Given the description of an element on the screen output the (x, y) to click on. 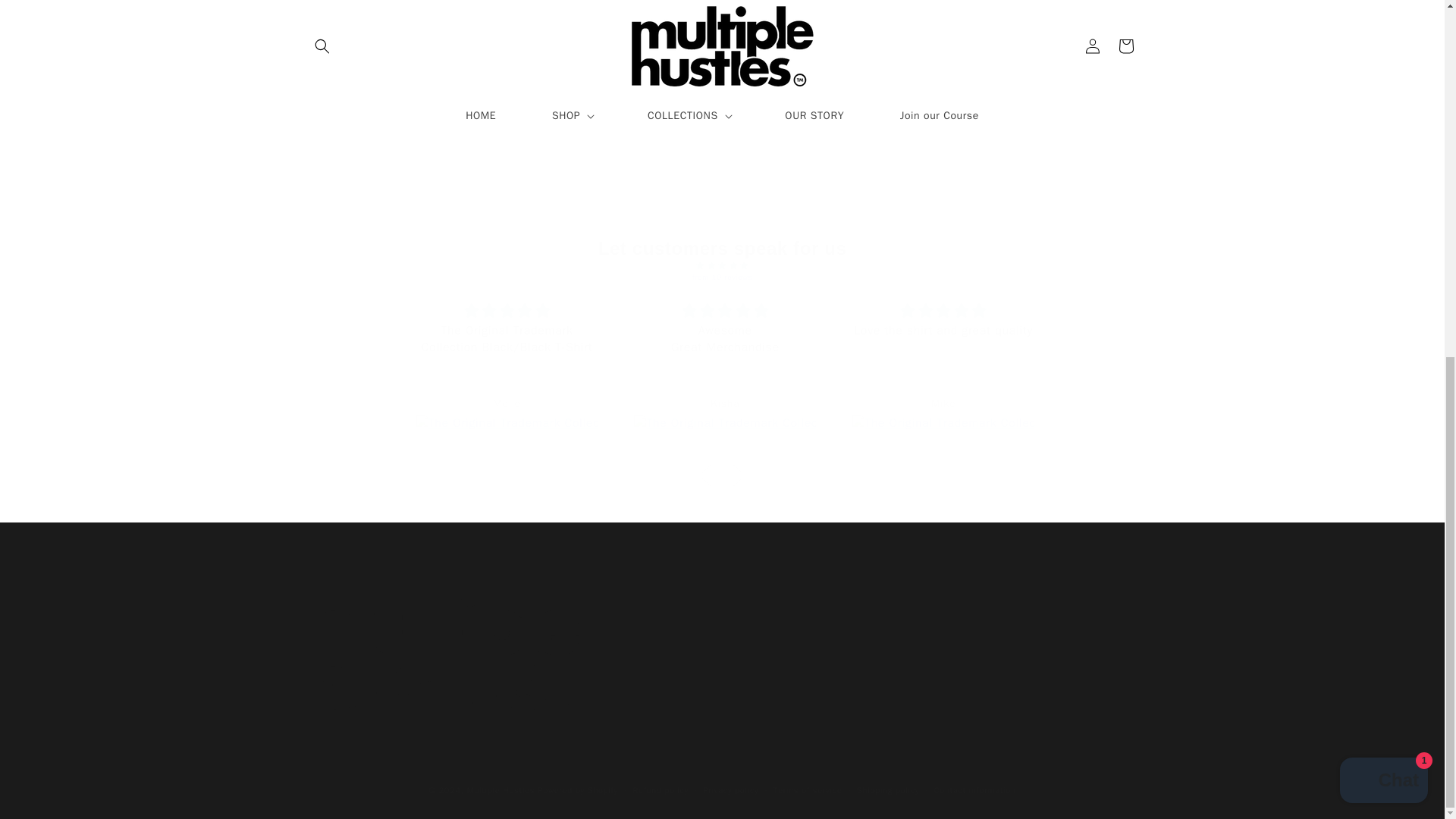
Shopify online store chat (722, 656)
